Given the description of an element on the screen output the (x, y) to click on. 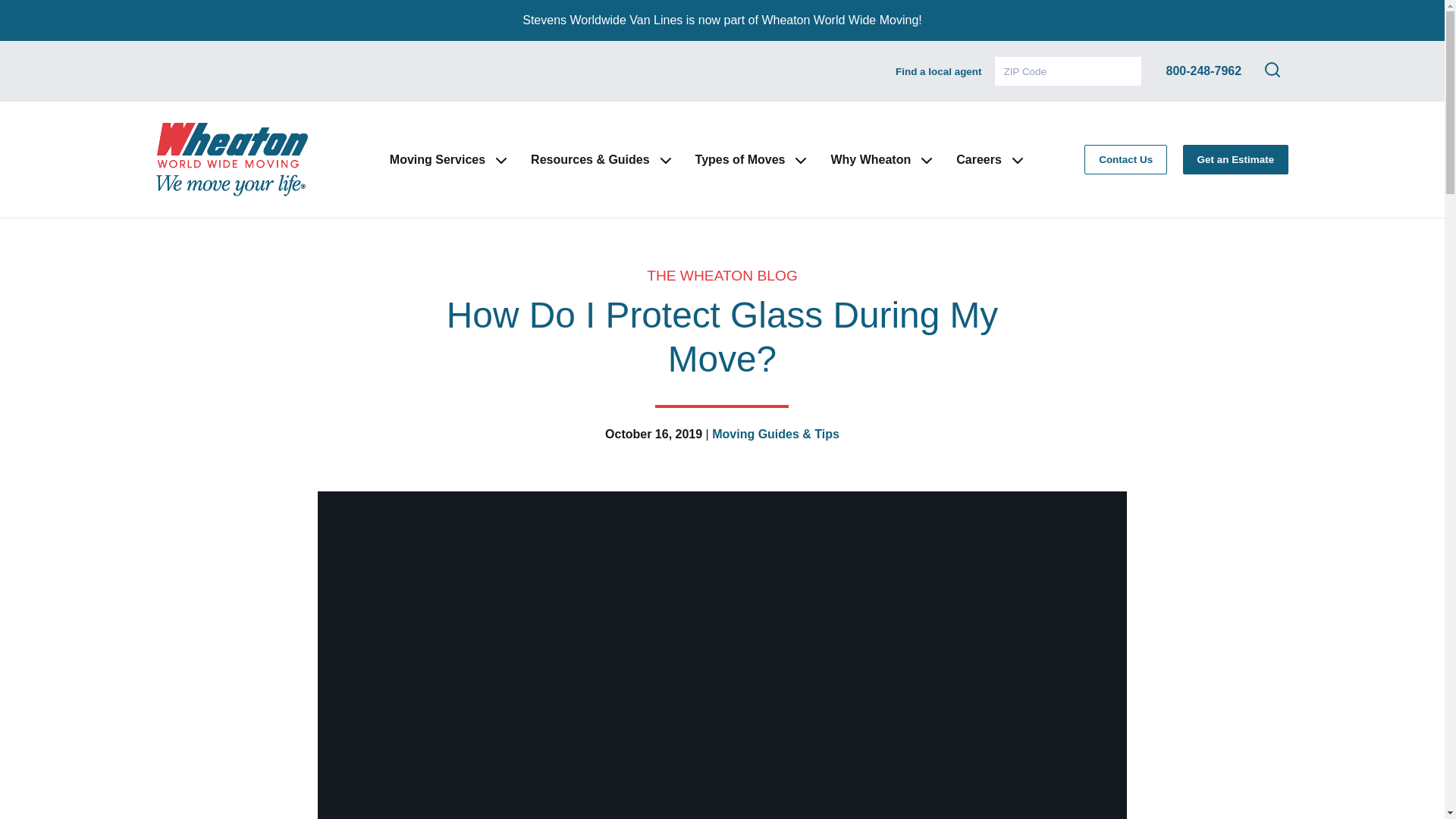
Contact Us (1125, 159)
Find a local agent (938, 70)
Types of Moves (740, 159)
800-248-7962 (1203, 70)
Moving Services (437, 159)
Get an Estimate (1235, 159)
